Given the description of an element on the screen output the (x, y) to click on. 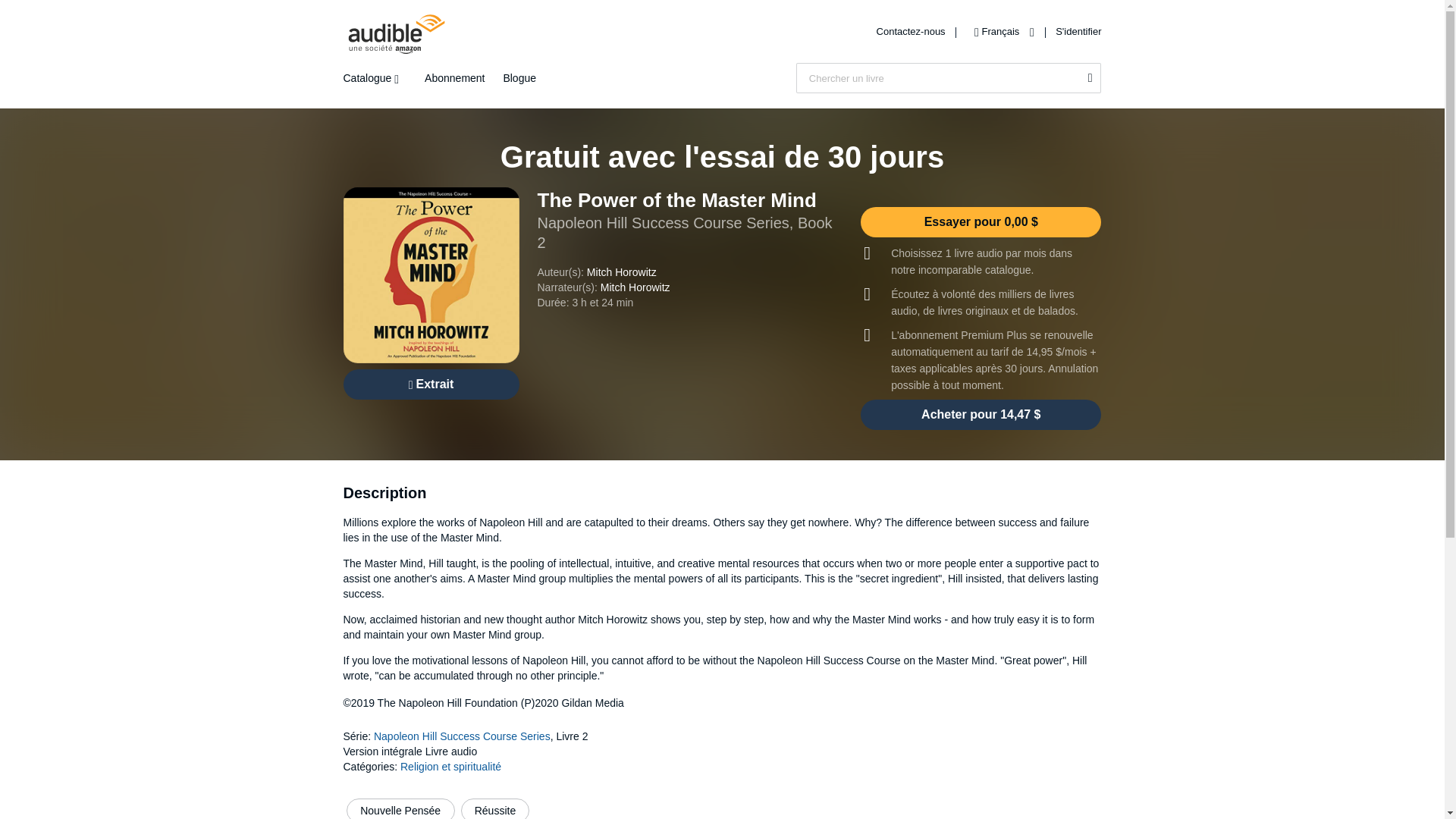
Mitch Horowitz (634, 287)
Contactez-nous (912, 30)
Blogue (518, 78)
Abonnement (454, 78)
Mitch Horowitz (621, 272)
Catalogue (374, 78)
Extrait (430, 384)
S'identifier (1077, 30)
